Given the description of an element on the screen output the (x, y) to click on. 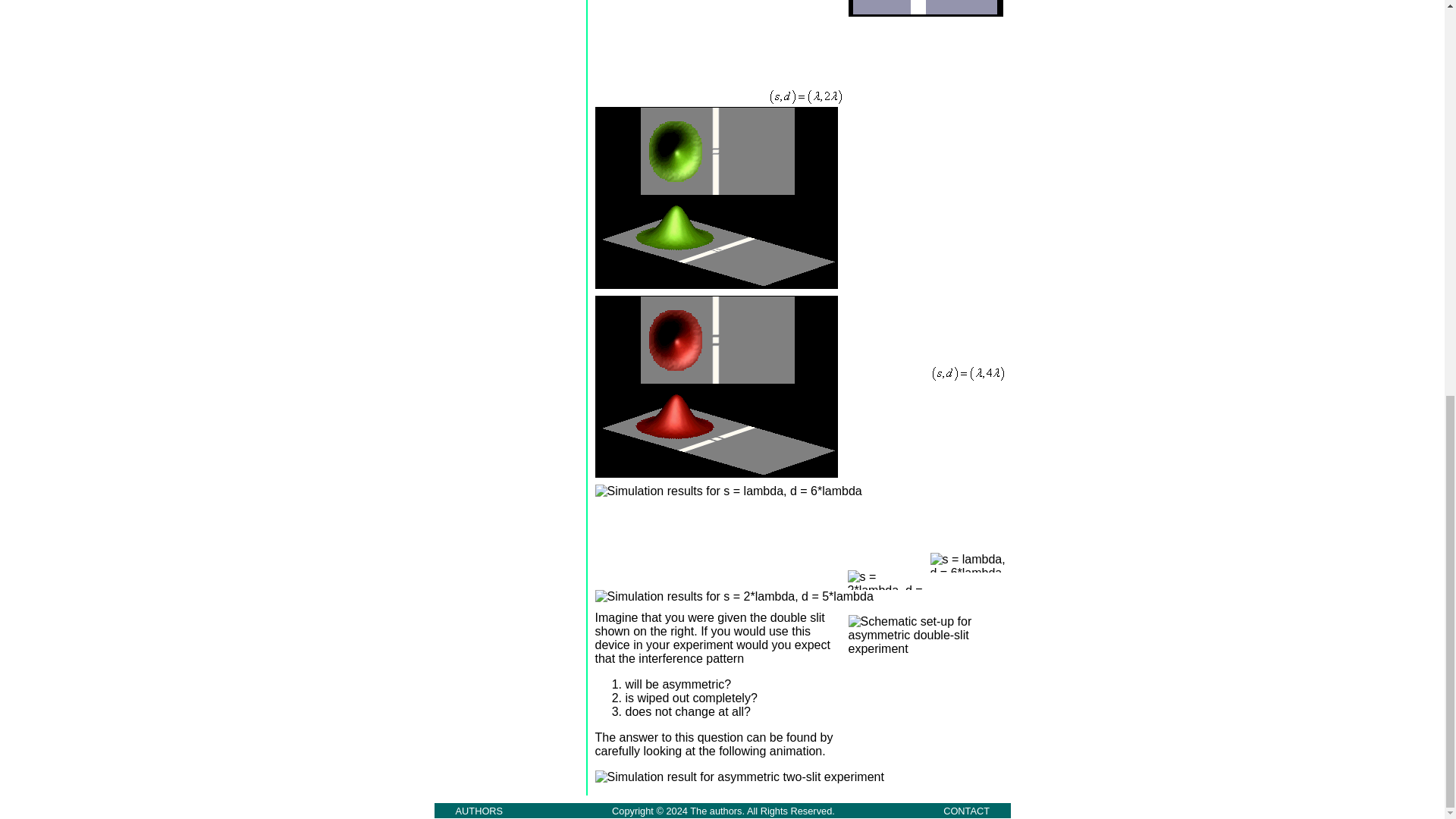
AUTHORS (479, 810)
CONTACT (966, 810)
